Given the description of an element on the screen output the (x, y) to click on. 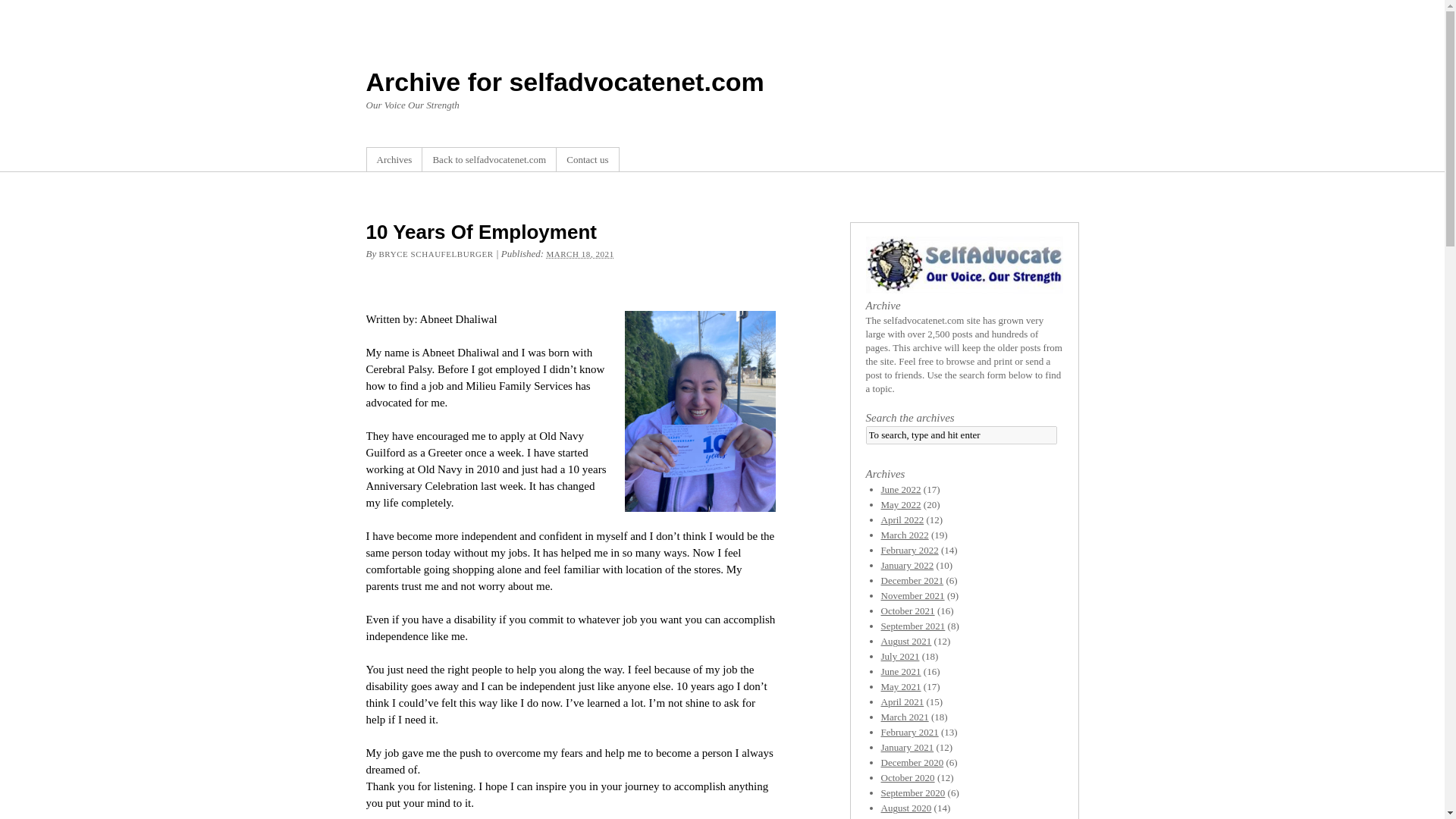
May 2021 (900, 686)
July 2021 (900, 655)
To search, type and hit enter (961, 434)
June 2022 (900, 489)
Archive for selfadvocatenet.com (563, 81)
Search (19, 8)
November 2021 (912, 595)
August 2021 (905, 641)
2021-03-18T19:21:35-0700 (579, 253)
February 2021 (909, 731)
June 2021 (900, 671)
September 2021 (912, 625)
February 2022 (909, 550)
May 2022 (900, 504)
View all posts by Bryce Schaufelburger (435, 253)
